Given the description of an element on the screen output the (x, y) to click on. 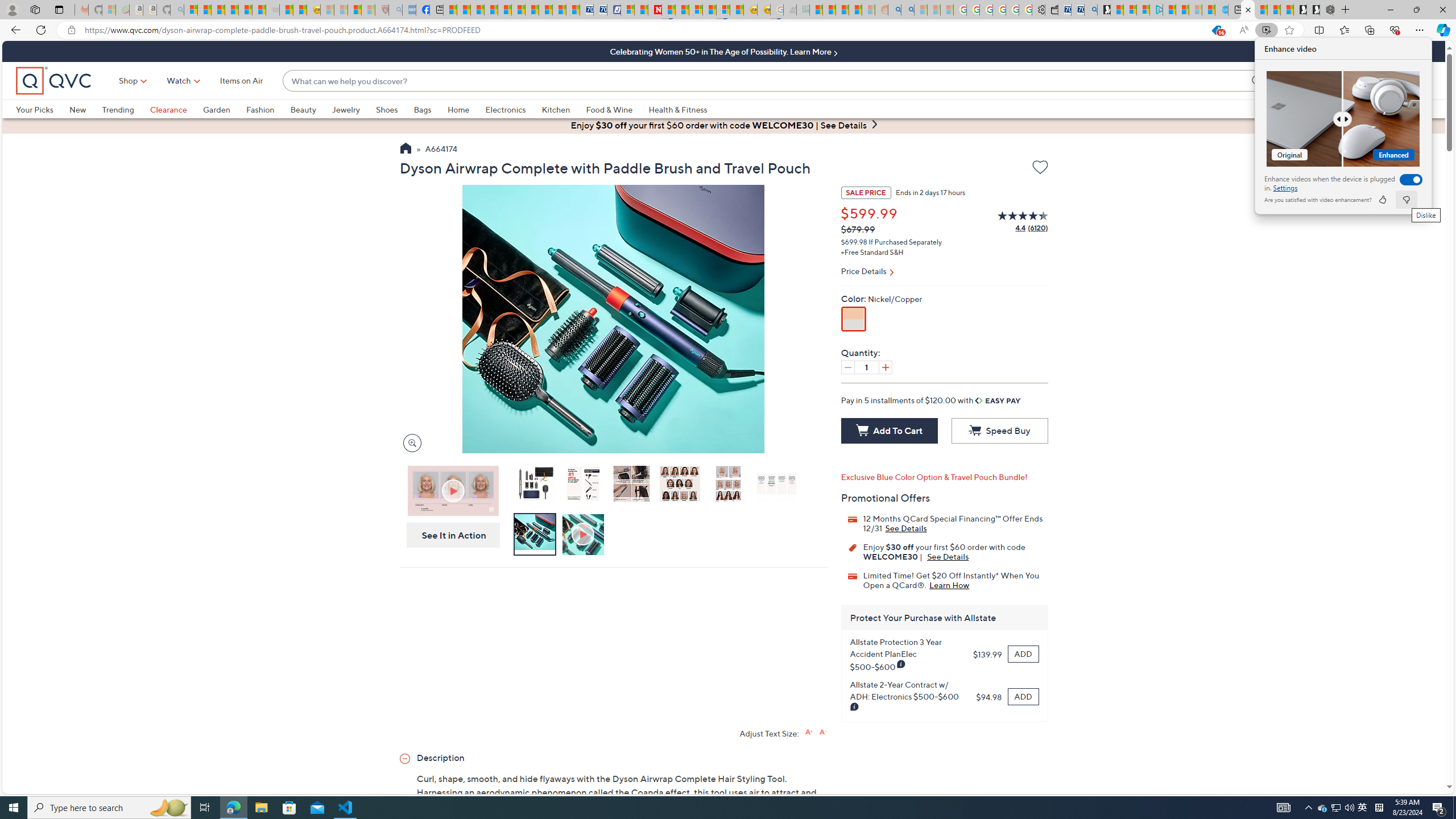
Cheap Hotels - Save70.com (599, 9)
Dyson Airwrap Complete with Paddle Brush and Travel Pouch (533, 483)
On-Air Presentation (453, 490)
Price Details (944, 272)
Electronics (512, 109)
QVC home (53, 80)
Your Picks (34, 109)
Microsoft Edge - 1 running window (233, 807)
